Given the description of an element on the screen output the (x, y) to click on. 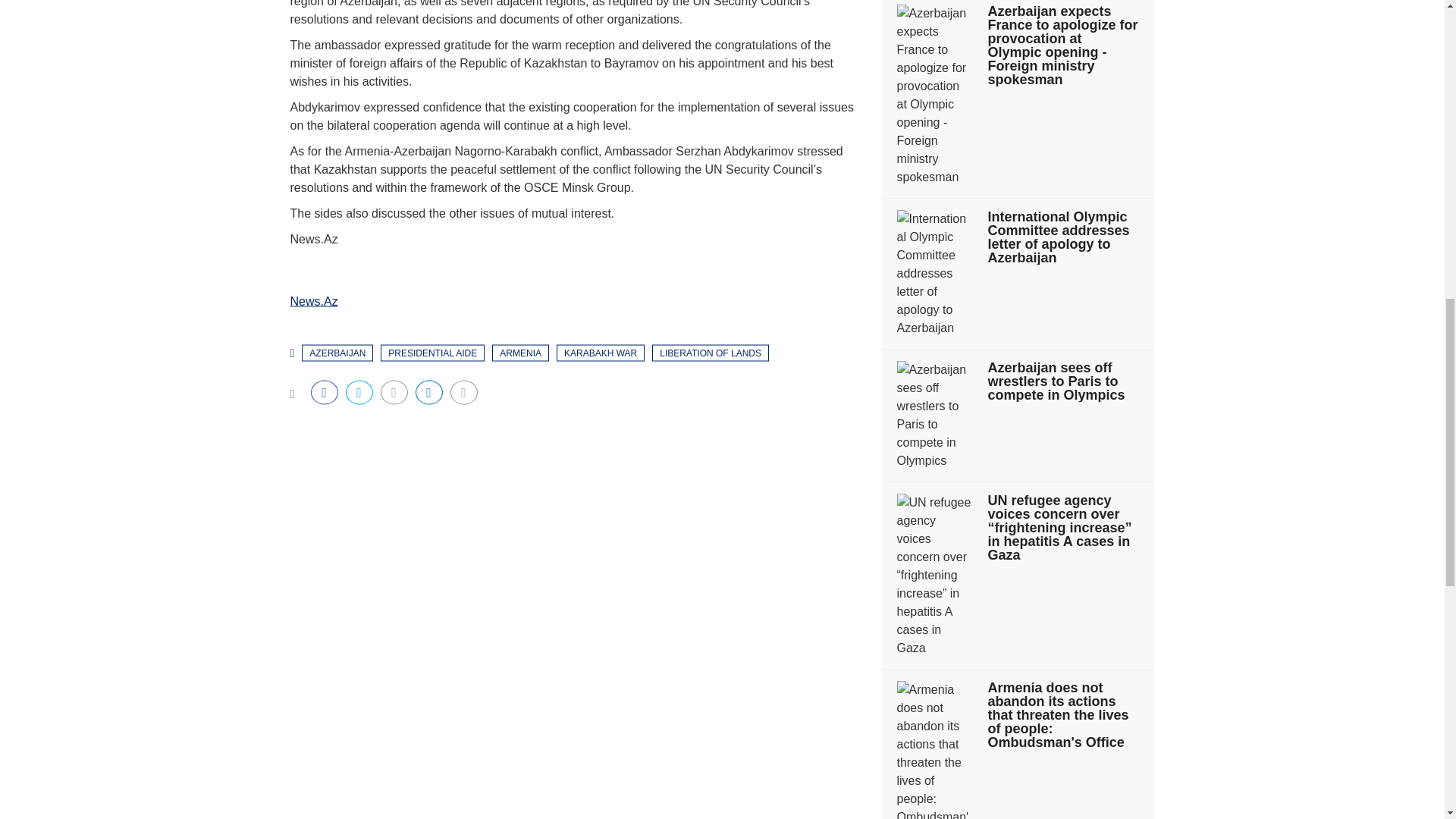
AZERBAIJAN (336, 352)
Share news on Facebook (324, 392)
Share news on Twitter (359, 392)
LIBERATION OF LANDS (710, 352)
ARMENIA (520, 352)
KARABAKH WAR (600, 352)
News.Az (313, 300)
PRESIDENTIAL AIDE (432, 352)
